Given the description of an element on the screen output the (x, y) to click on. 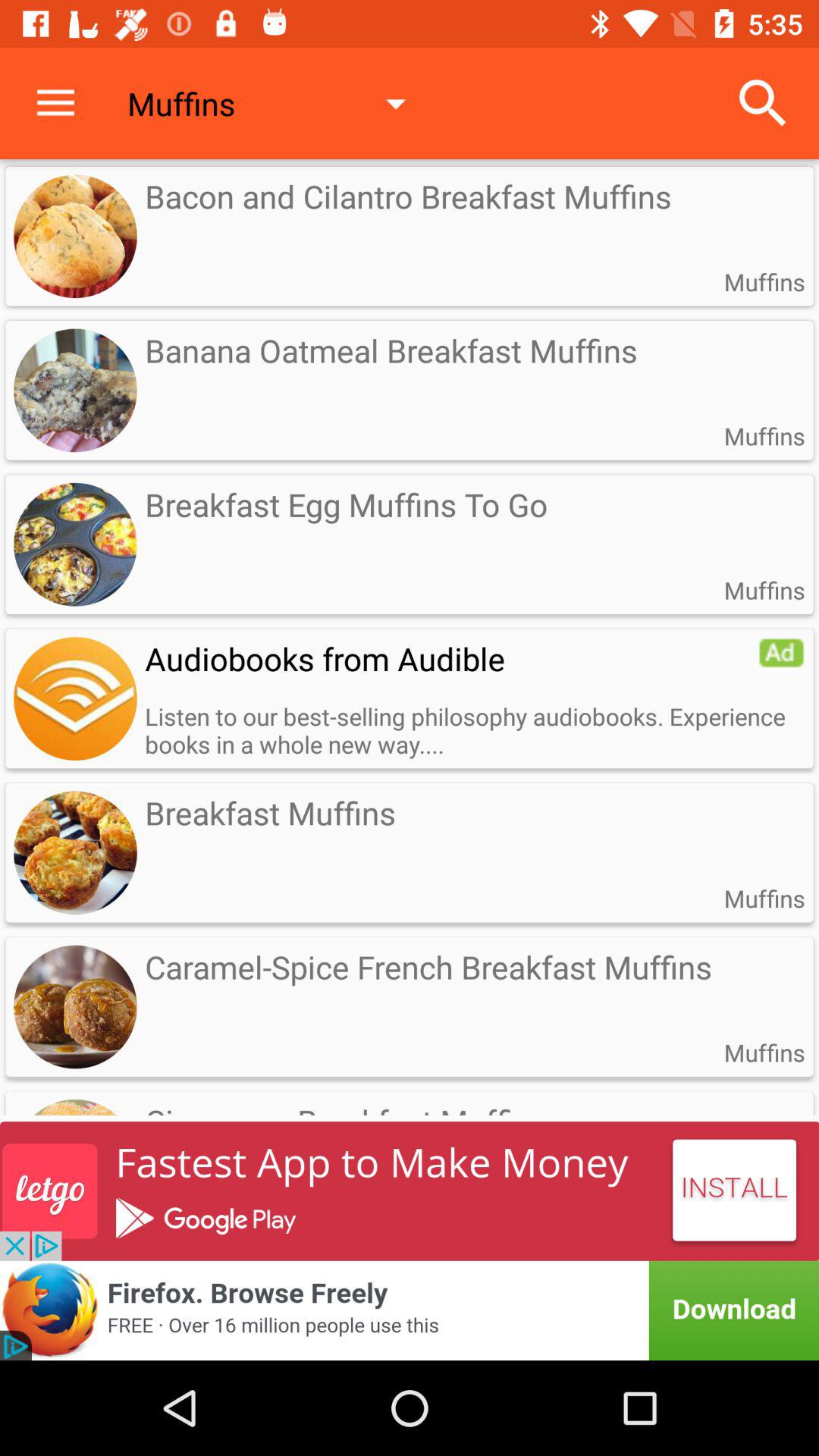
go to advertisement (75, 698)
